Given the description of an element on the screen output the (x, y) to click on. 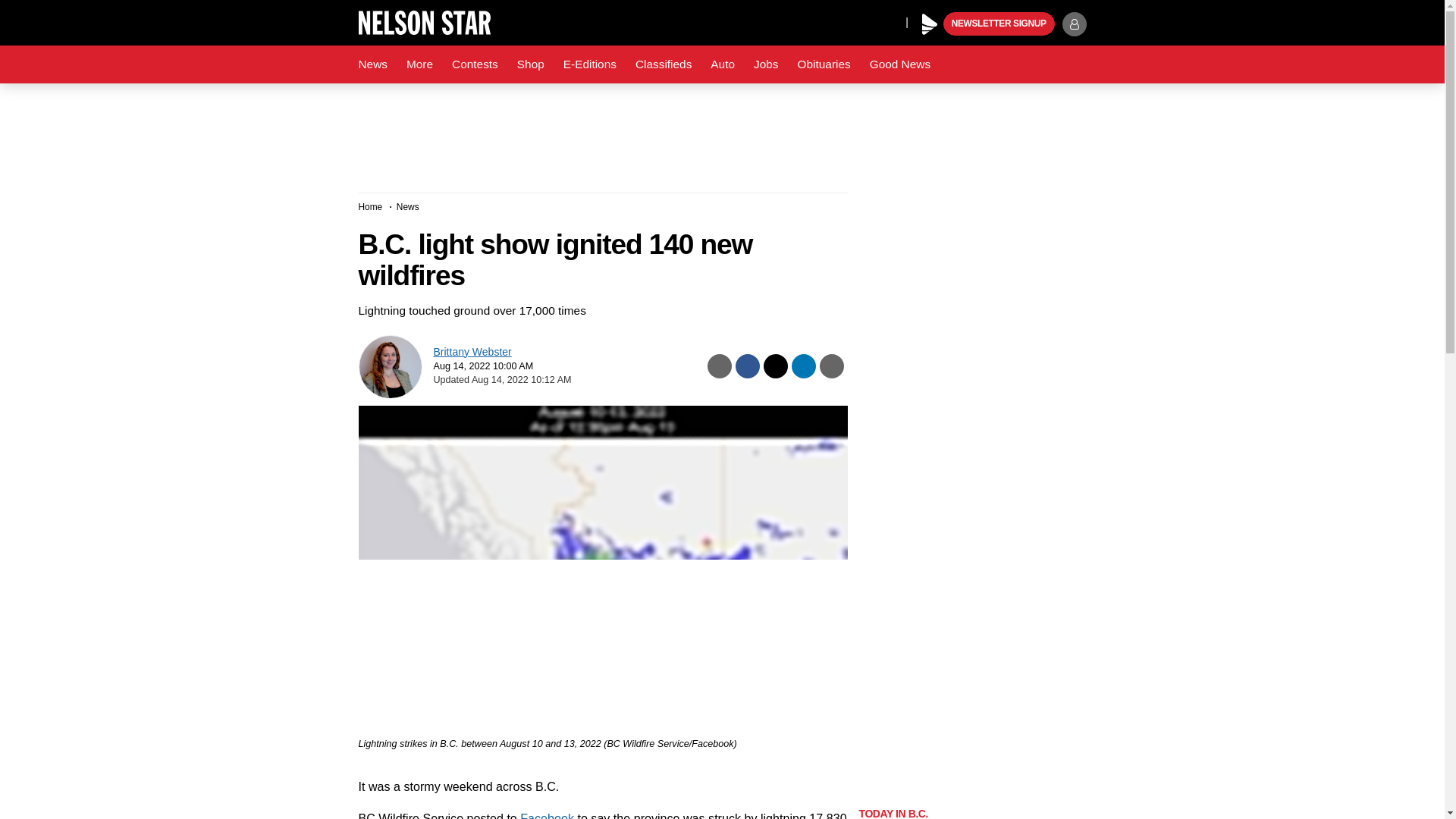
Black Press Media (929, 24)
News (372, 64)
Play (929, 24)
NEWSLETTER SIGNUP (998, 24)
X (889, 21)
